Given the description of an element on the screen output the (x, y) to click on. 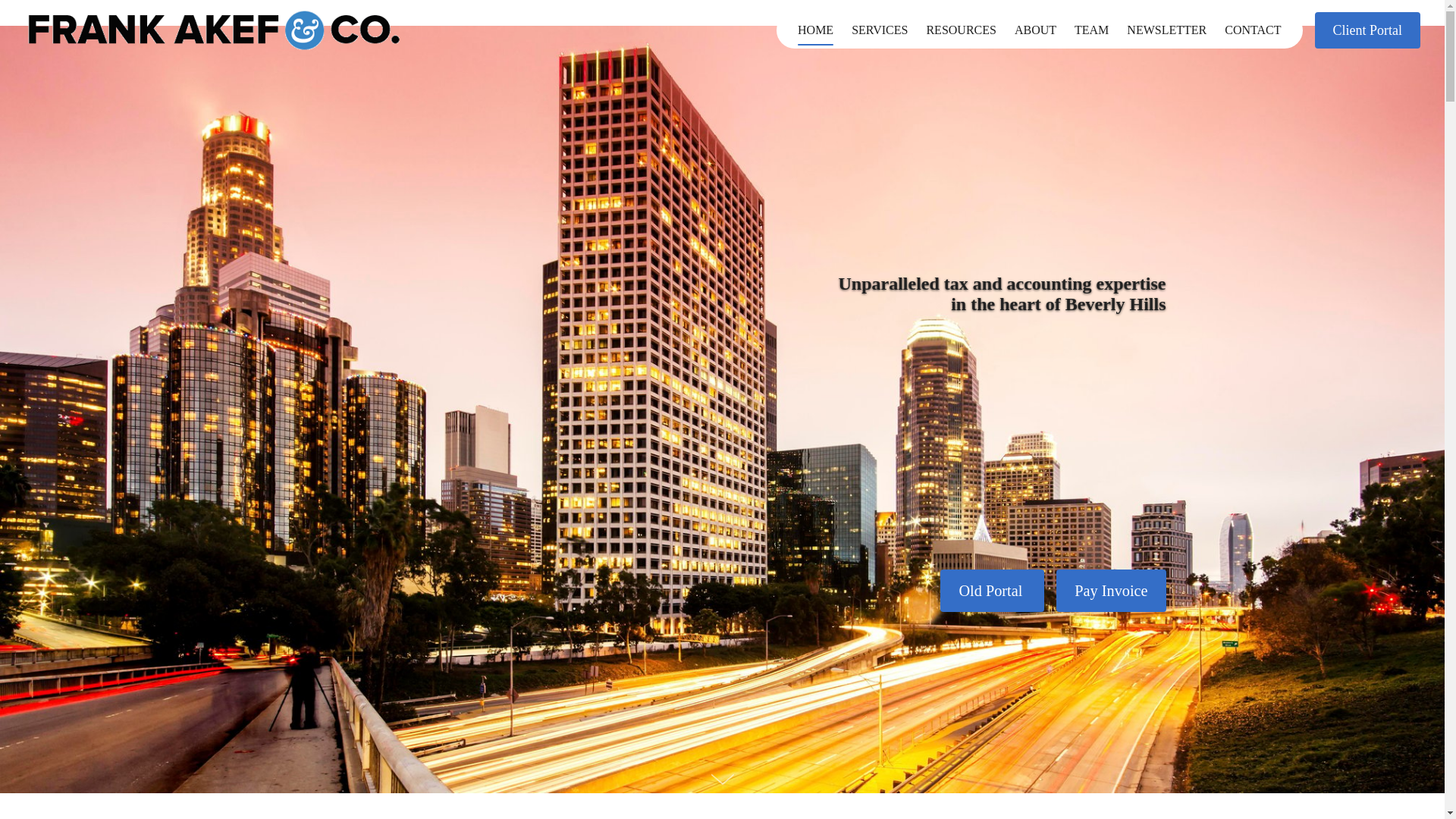
Pay Invoice (1111, 590)
CONTACT (1252, 30)
TEAM (1091, 30)
NEWSLETTER (1166, 30)
HOME (816, 30)
Old Portal  (991, 590)
Client Portal (1367, 30)
SERVICES (880, 30)
RESOURCES (960, 30)
ABOUT (1035, 30)
